Given the description of an element on the screen output the (x, y) to click on. 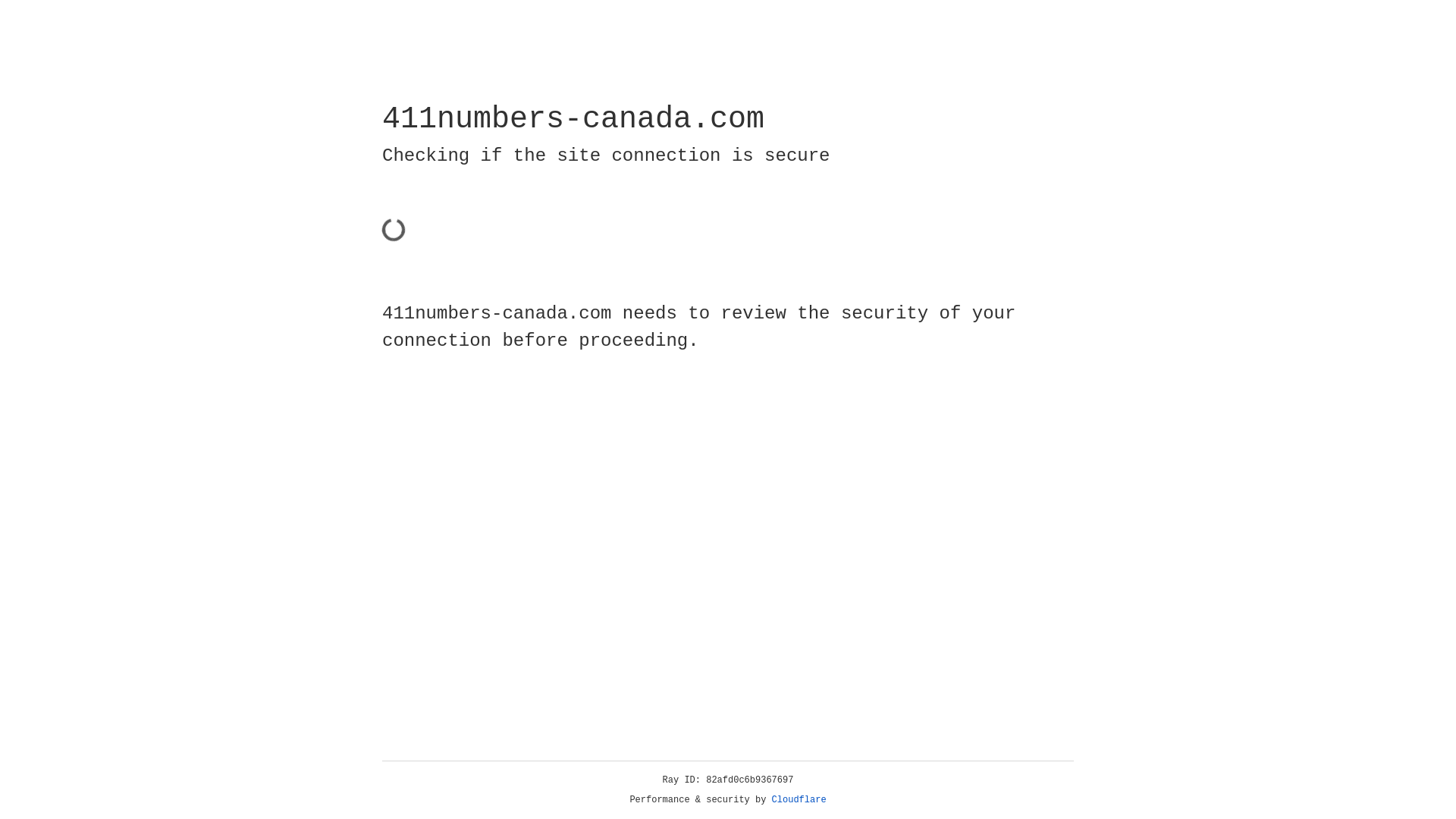
Cloudflare Element type: text (798, 799)
